Given the description of an element on the screen output the (x, y) to click on. 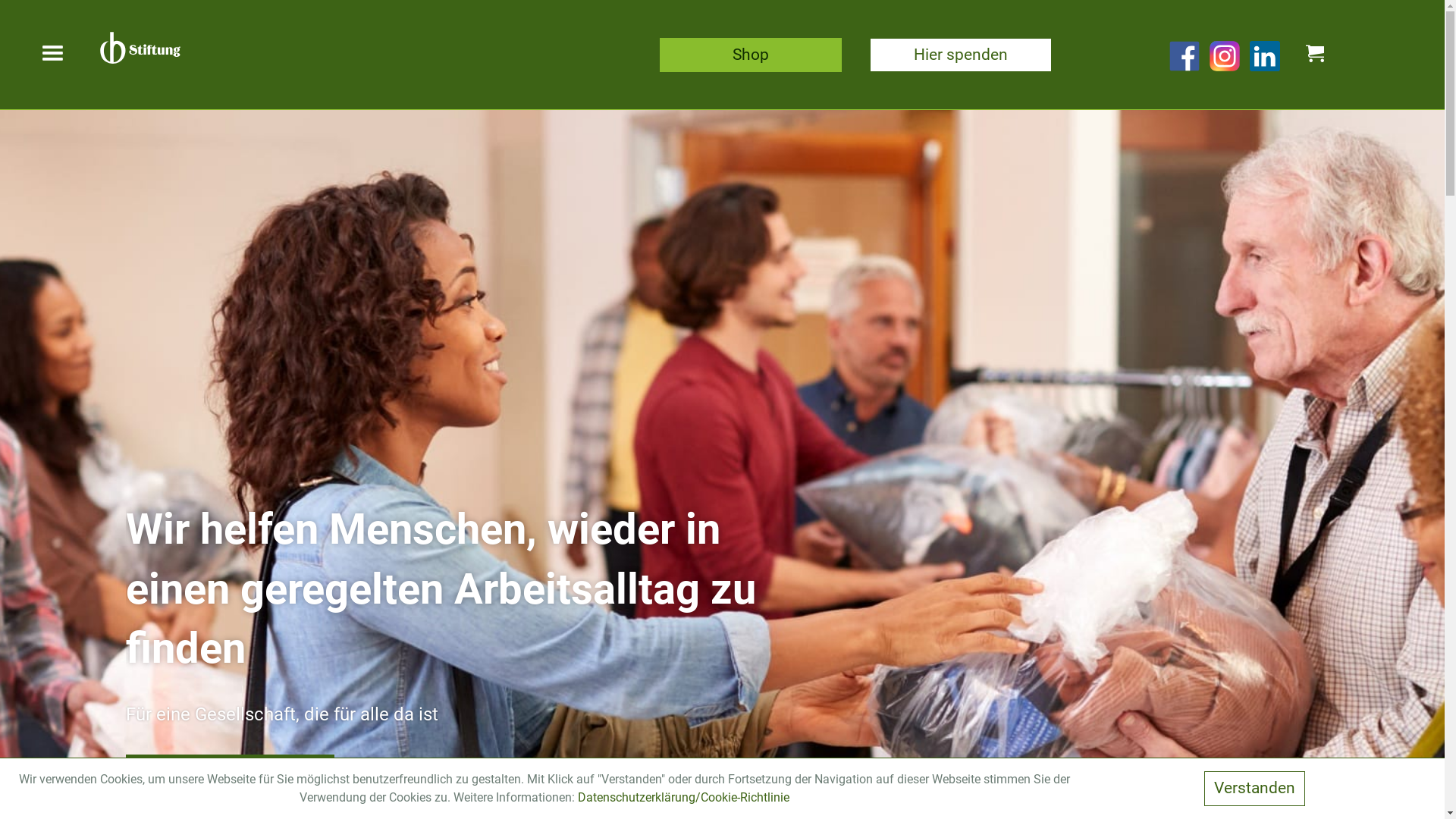
Hier spenden Element type: text (960, 54)
Spenden Sie jetzt Element type: text (229, 774)
Linkedin-Link Element type: hover (1266, 54)
Shop Element type: text (750, 54)
Verstanden Element type: text (1254, 788)
Facebook-Link Element type: hover (1186, 54)
Instagram-Link Element type: hover (1226, 54)
Warenkorb Element type: hover (1314, 55)
